Given the description of an element on the screen output the (x, y) to click on. 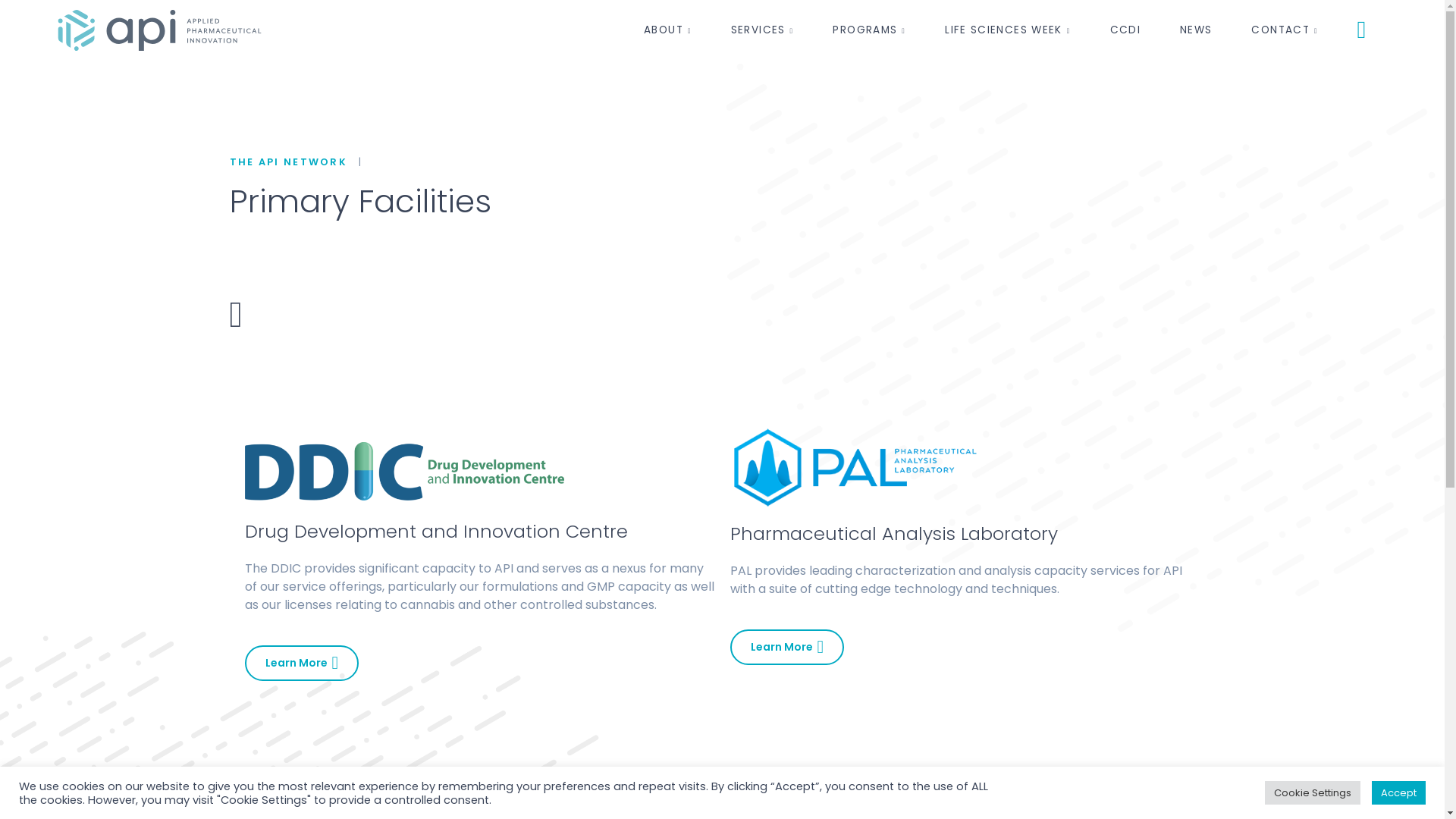
Cookie Settings Element type: text (1312, 792)
ABOUT Element type: text (667, 30)
Drug Development and Innovation Centre Element type: text (435, 530)
CCDI Element type: text (1125, 30)
LIFE SCIENCES WEEK Element type: text (1007, 30)
Accept Element type: text (1398, 792)
NEWS Element type: text (1195, 30)
CONTACT Element type: text (1284, 30)
Pharmaceutical Analysis Laboratory Element type: text (893, 533)
Learn More Element type: text (301, 662)
PROGRAMS Element type: text (868, 30)
Learn More Element type: text (786, 647)
THE API NETWORK Element type: text (288, 160)
SERVICES Element type: text (762, 30)
